Given the description of an element on the screen output the (x, y) to click on. 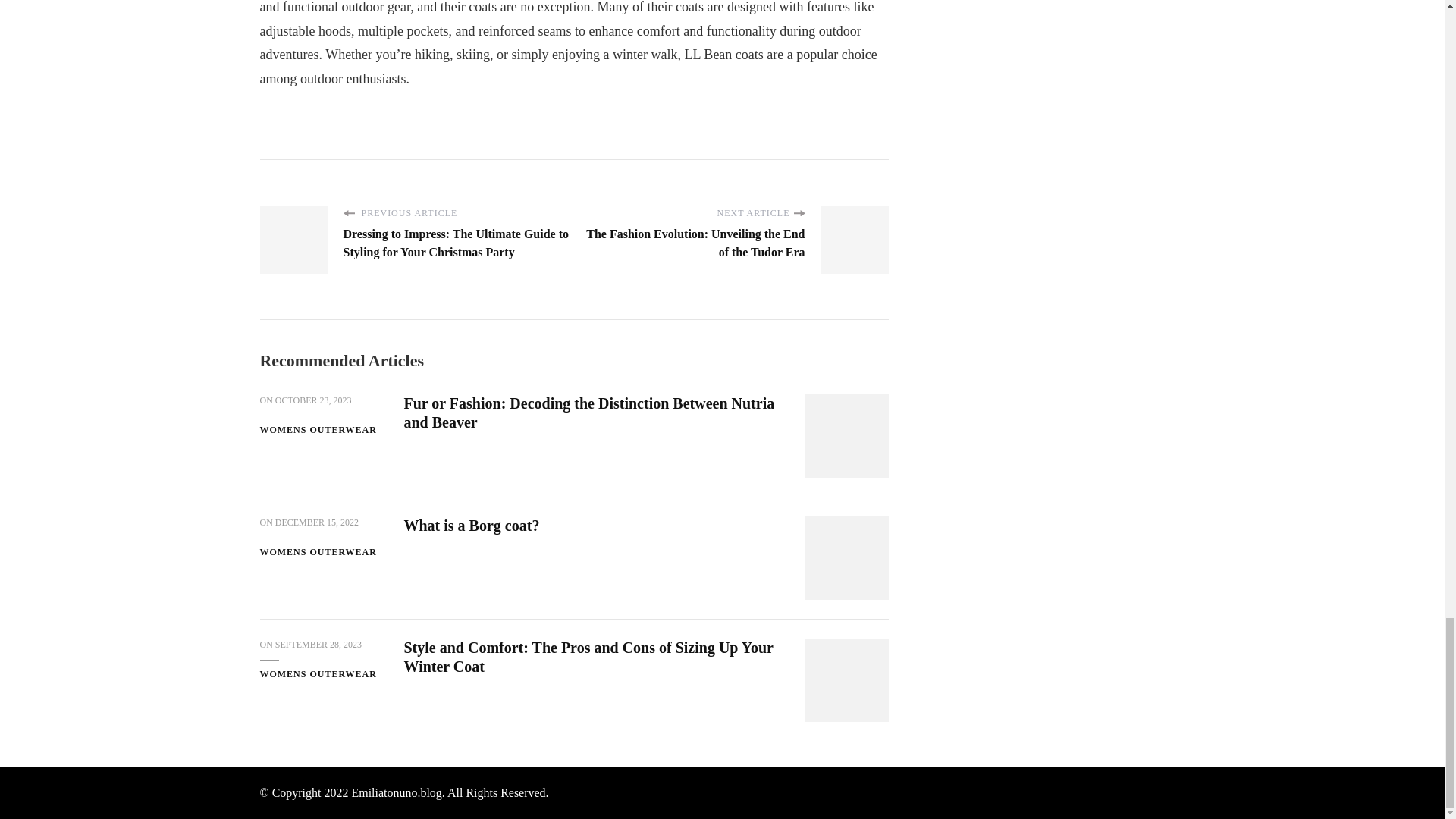
WOMENS OUTERWEAR (317, 430)
What is a Borg coat? (470, 524)
WOMENS OUTERWEAR (317, 552)
OCTOBER 23, 2023 (313, 400)
DECEMBER 15, 2022 (316, 522)
SEPTEMBER 28, 2023 (318, 644)
WOMENS OUTERWEAR (317, 674)
